Given the description of an element on the screen output the (x, y) to click on. 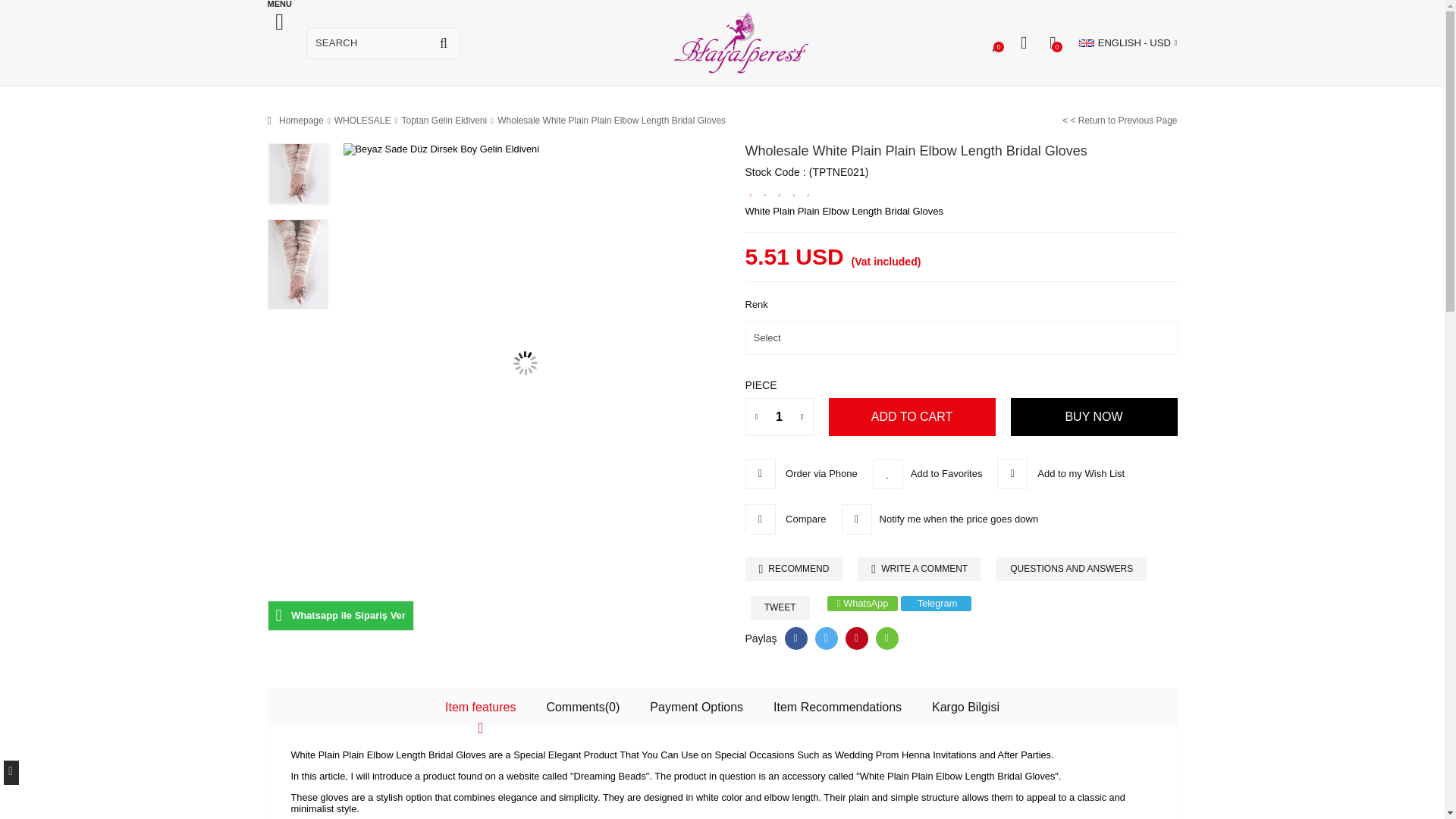
1 (778, 416)
Search (443, 42)
Add to Cart (911, 416)
Buy Now (1093, 416)
